Given the description of an element on the screen output the (x, y) to click on. 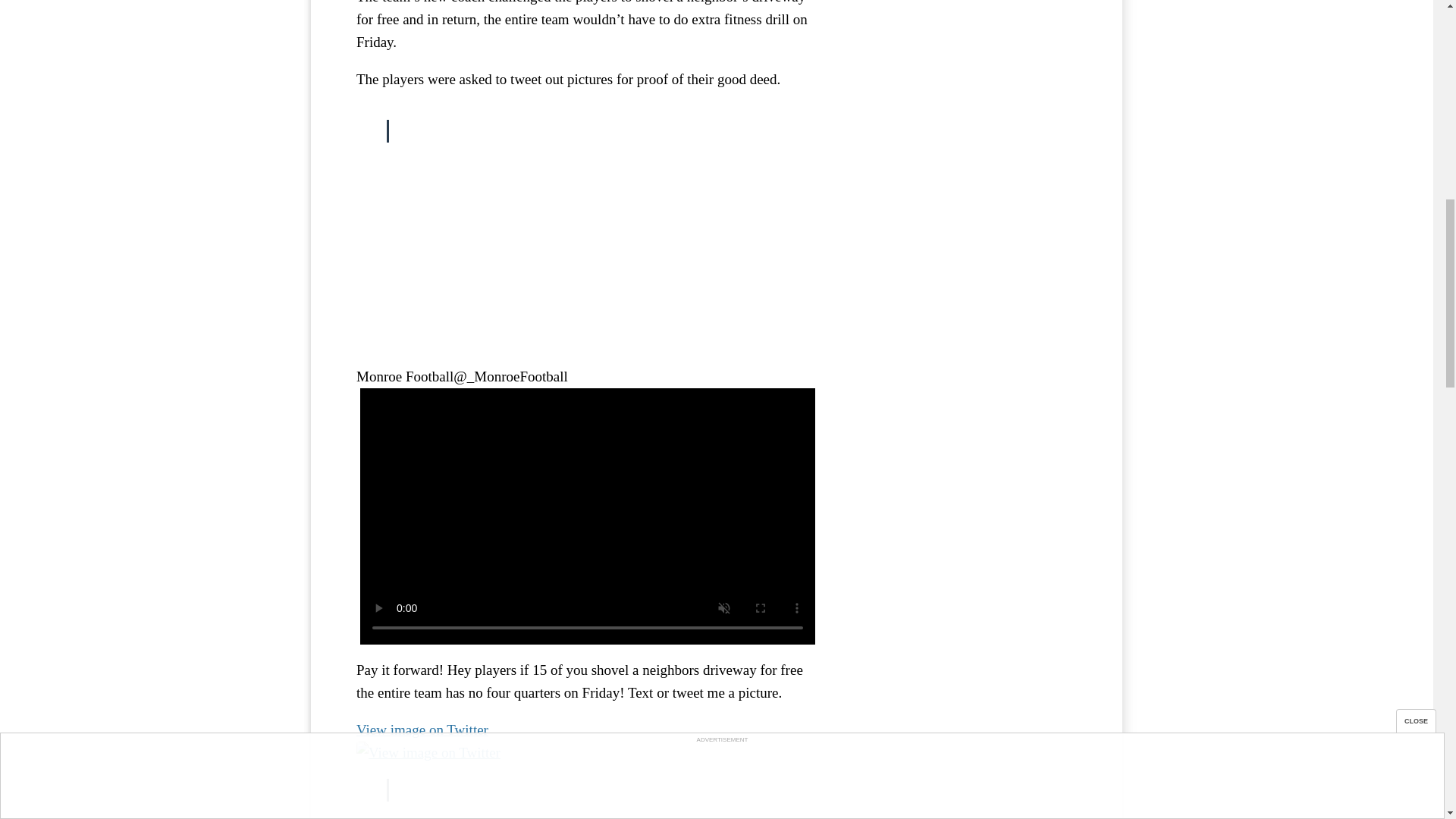
View image on Twitter (421, 729)
Monroe Football (404, 376)
View image on Twitter (428, 753)
